Given the description of an element on the screen output the (x, y) to click on. 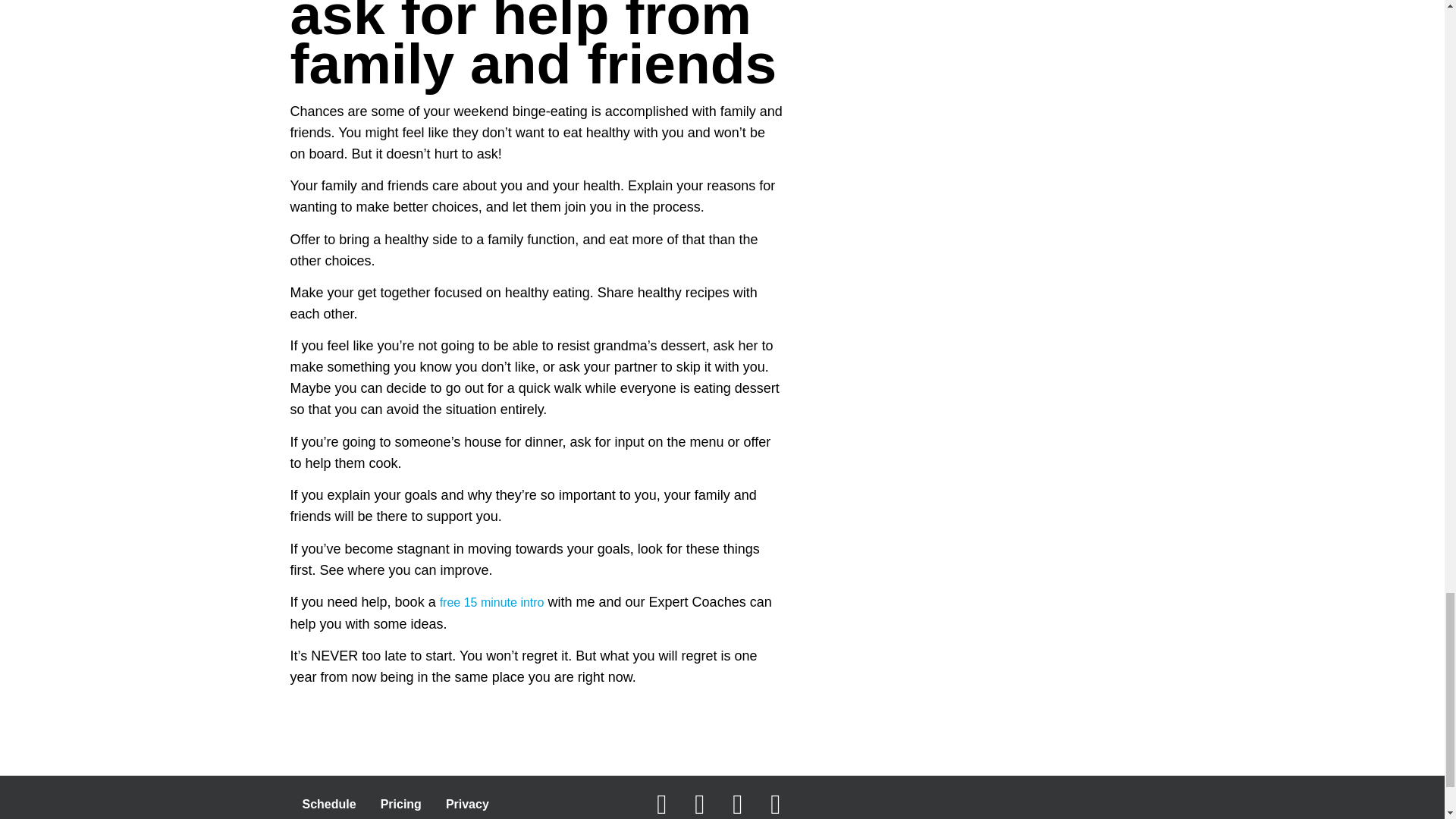
free 15 minute intro (491, 602)
Schedule (328, 804)
Privacy (466, 804)
Pricing (400, 804)
